Given the description of an element on the screen output the (x, y) to click on. 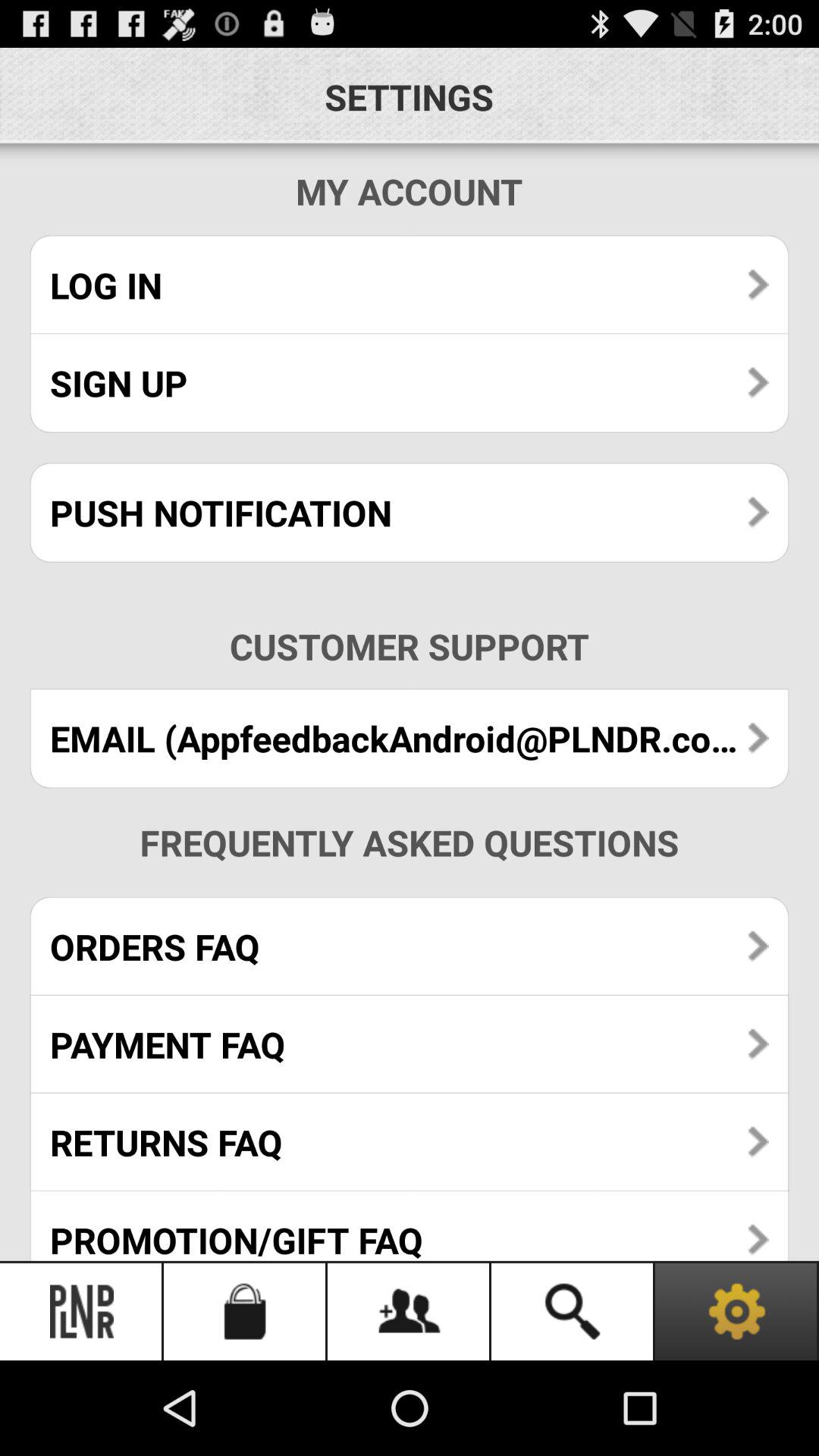
open app below the orders faq (409, 1044)
